Given the description of an element on the screen output the (x, y) to click on. 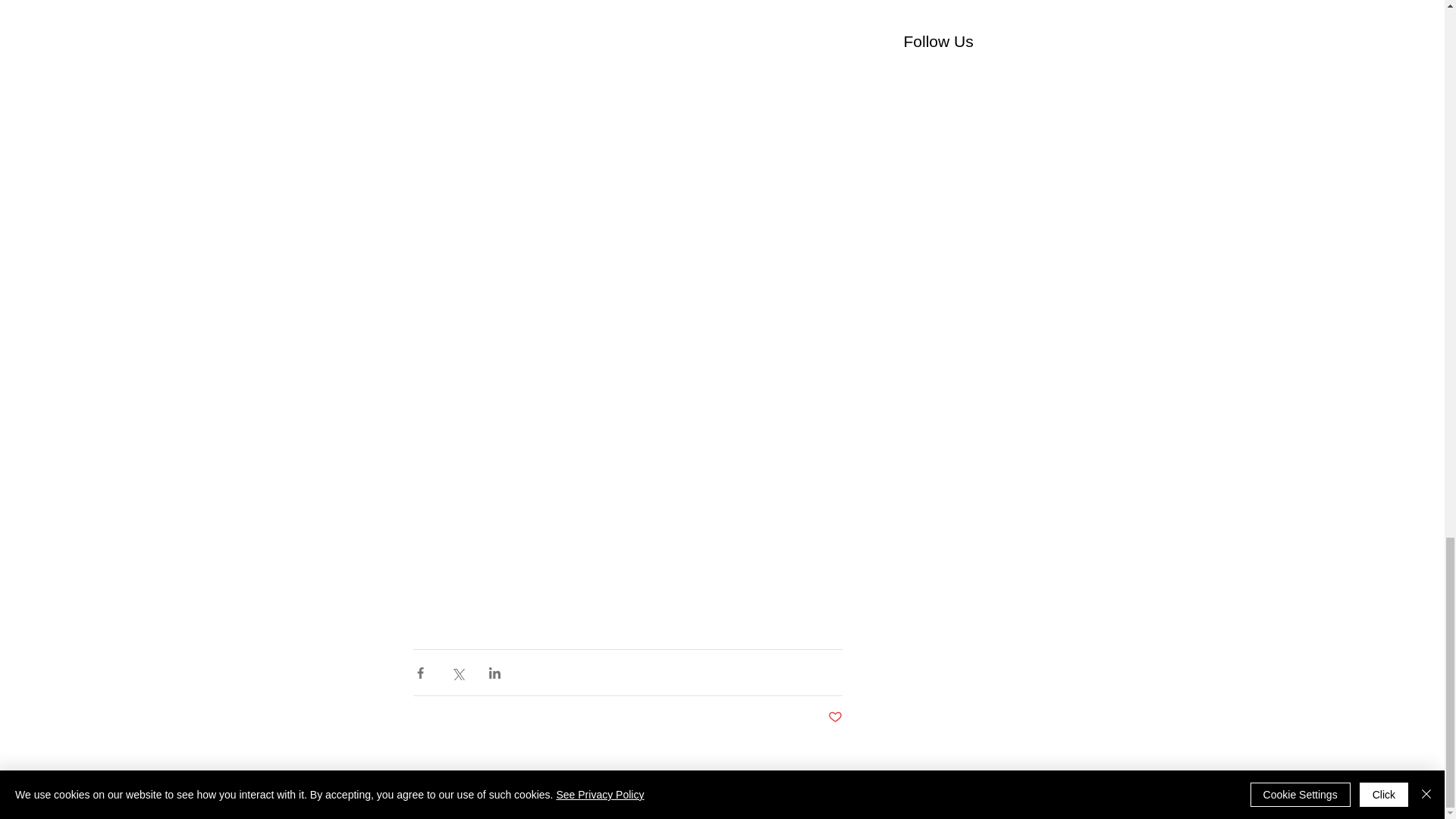
Post not marked as liked (835, 717)
